Given the description of an element on the screen output the (x, y) to click on. 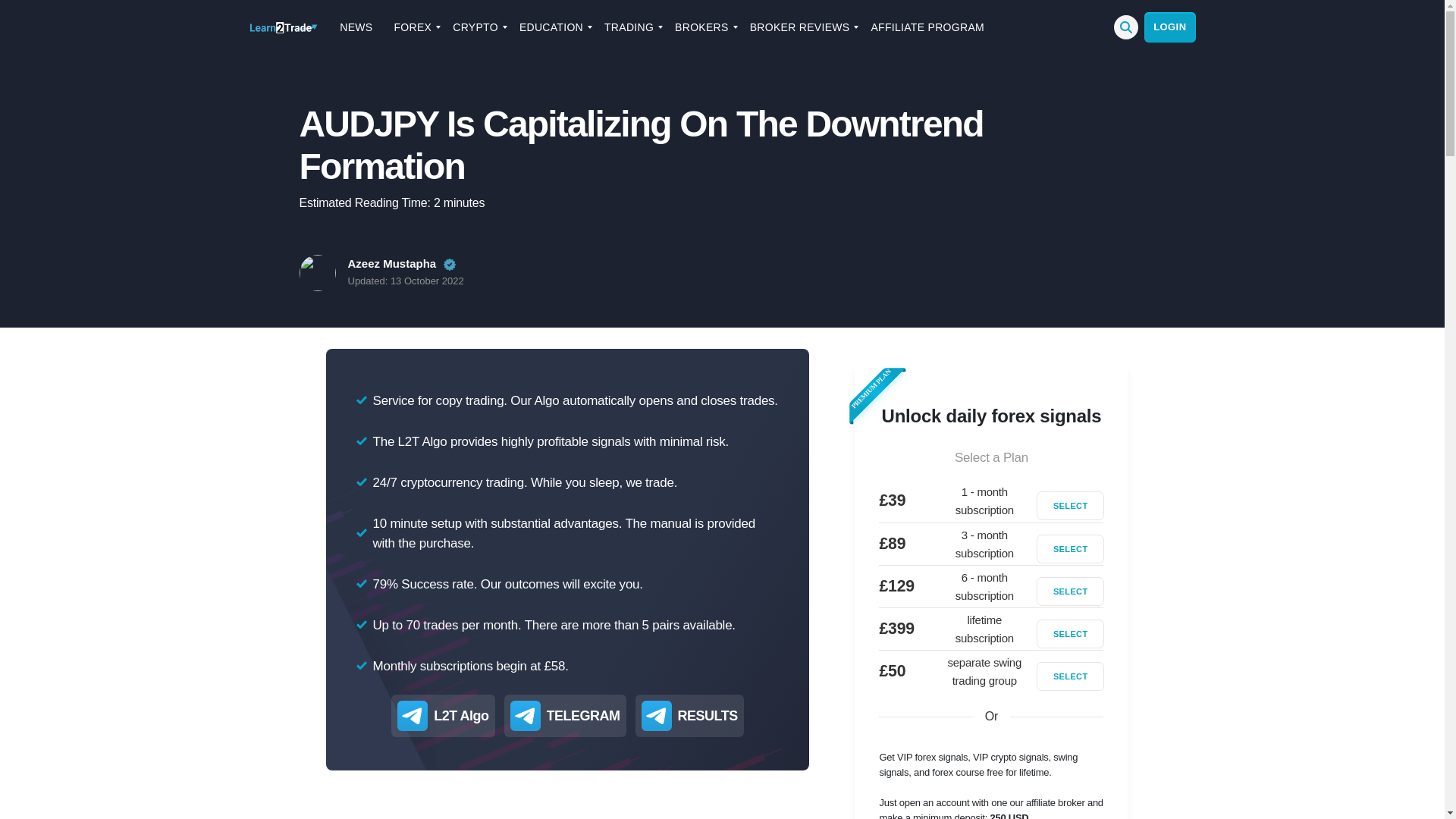
CRYPTO (475, 27)
L2T Algo (460, 715)
NEWS (355, 27)
FOREX (413, 27)
TELEGRAM (583, 715)
Home (282, 27)
RESULTS (708, 715)
